Given the description of an element on the screen output the (x, y) to click on. 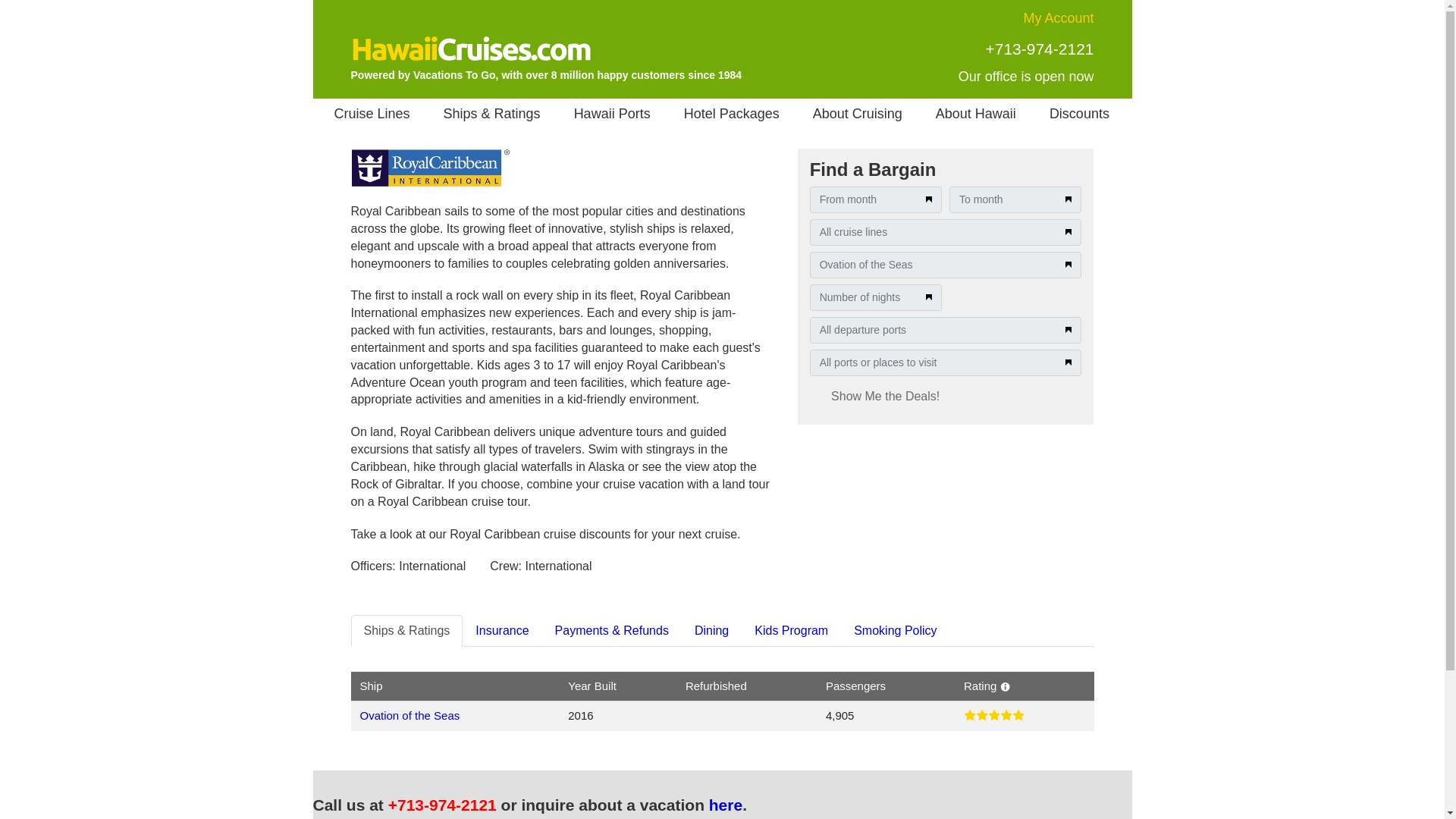
Cruise Lines (372, 113)
Hawaii Ports (612, 113)
Show Me the Deals! (884, 396)
Hotel Packages (731, 113)
About Hawaii (975, 113)
My Account (1058, 17)
About Cruising (858, 113)
